Given the description of an element on the screen output the (x, y) to click on. 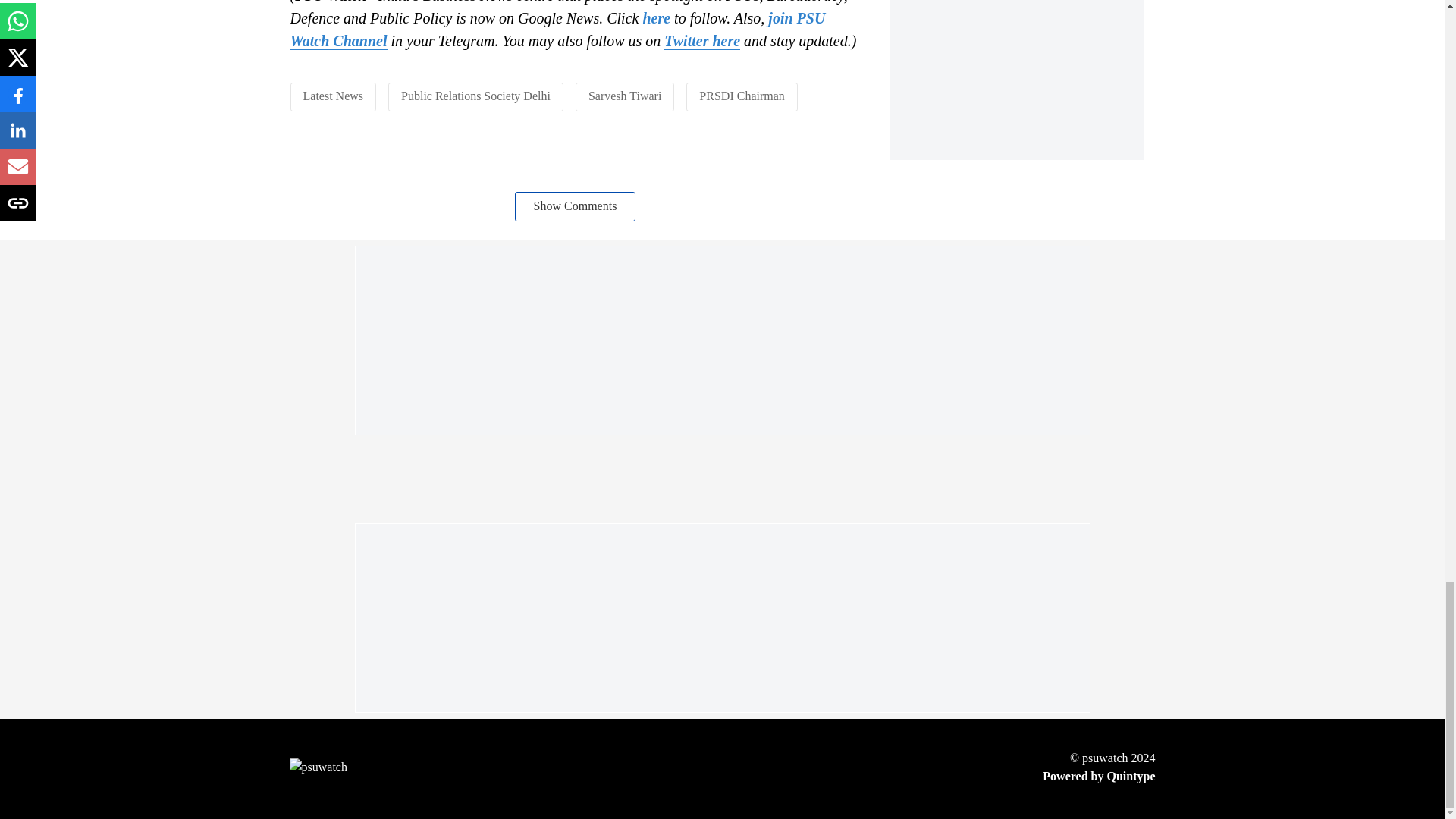
join PSU Watch Channel (557, 29)
Twitter here (701, 40)
here (655, 18)
Latest News (333, 95)
